Given the description of an element on the screen output the (x, y) to click on. 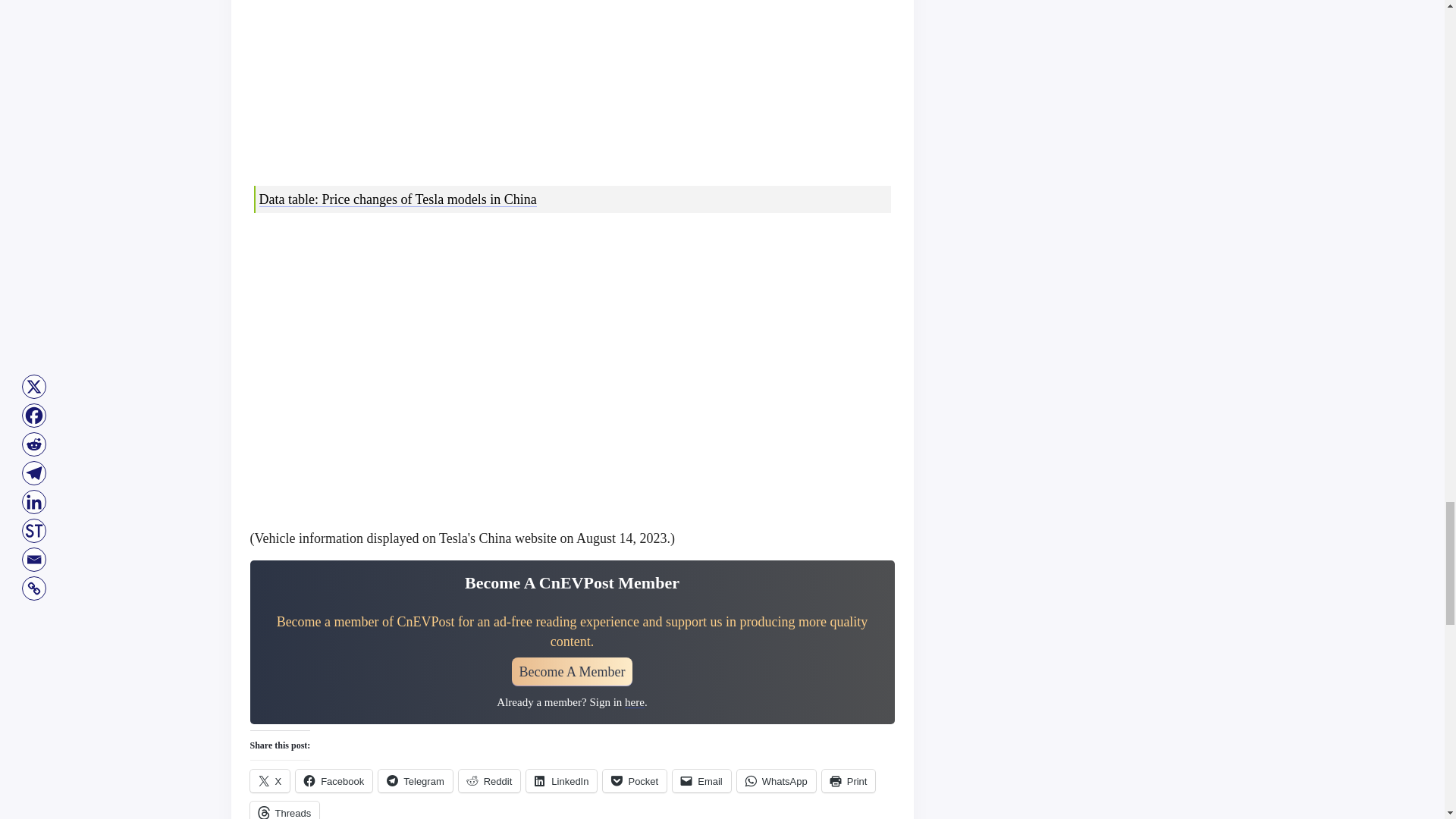
Click to share on Pocket (634, 780)
Click to share on Facebook (333, 780)
Click to share on X (269, 780)
Click to email a link to a friend (701, 780)
Click to share on Reddit (489, 780)
Click to share on Telegram (414, 780)
Click to share on LinkedIn (560, 780)
Data table: Price changes of Tesla models in China (398, 199)
Click to share on WhatsApp (775, 780)
Click to share on Threads (285, 810)
